Given the description of an element on the screen output the (x, y) to click on. 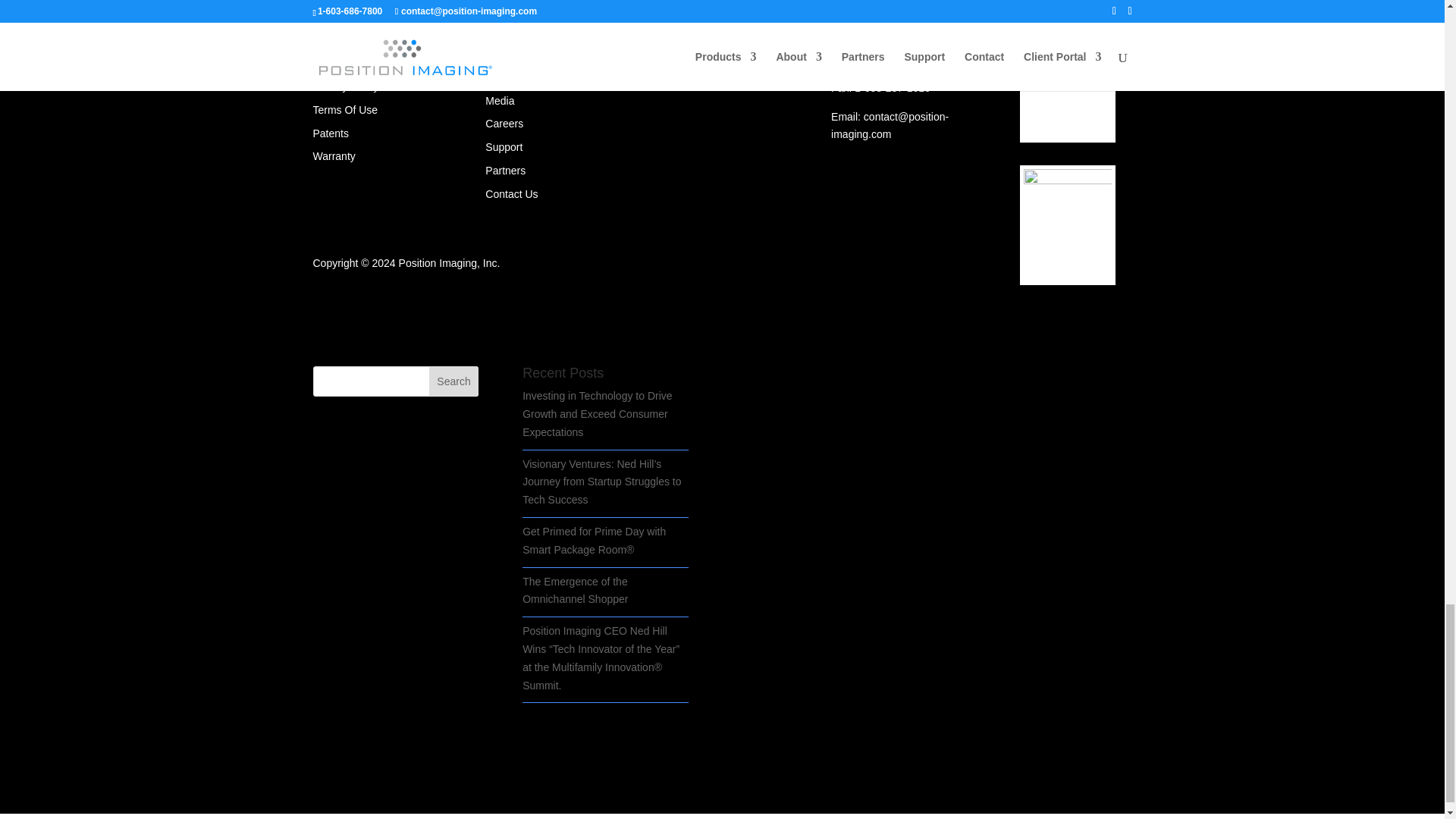
Follow on LinkedIn (324, 33)
Search (454, 381)
Follow on Youtube (384, 33)
Follow on Facebook (354, 33)
